Given the description of an element on the screen output the (x, y) to click on. 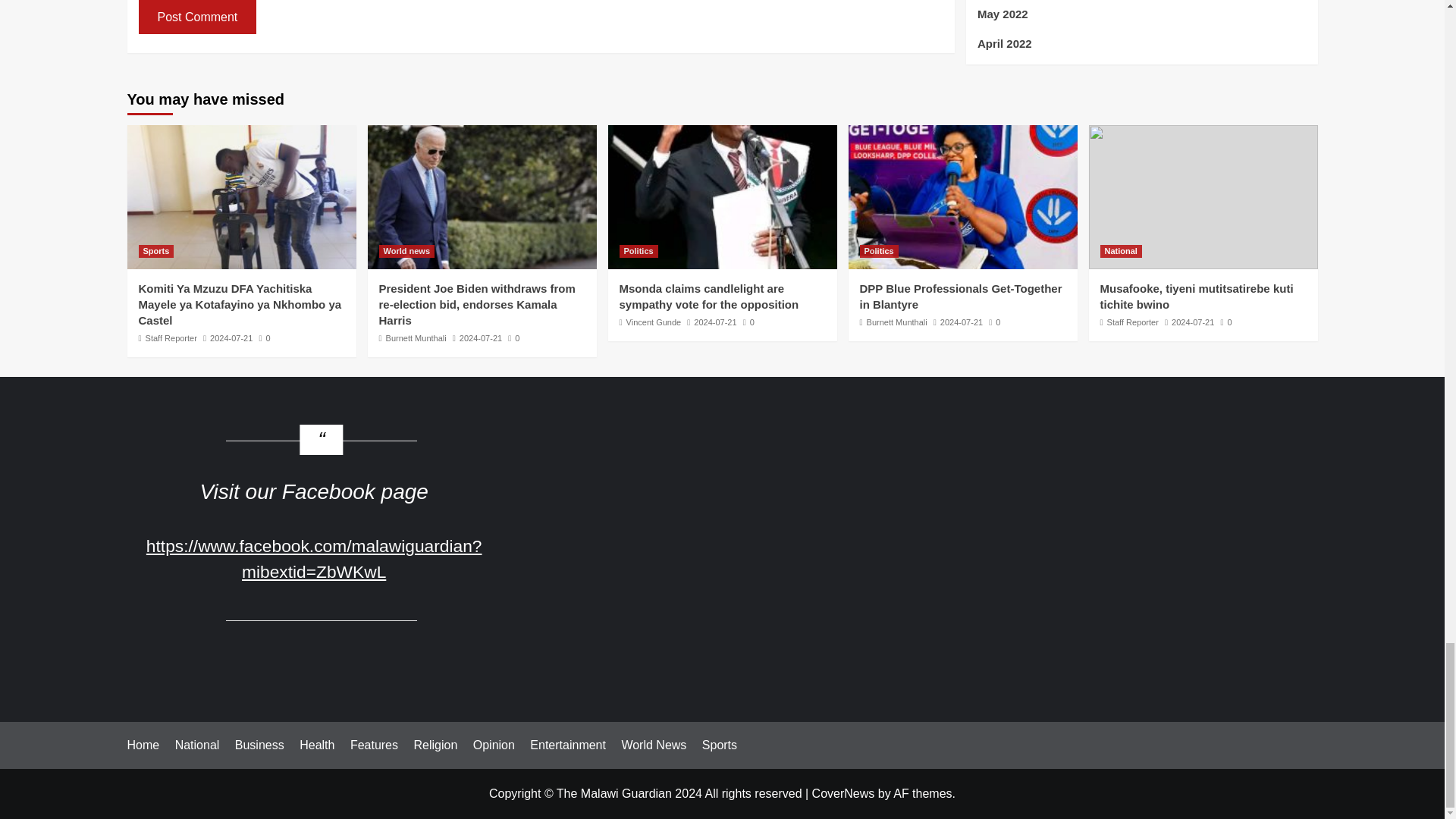
Post Comment (197, 17)
